Given the description of an element on the screen output the (x, y) to click on. 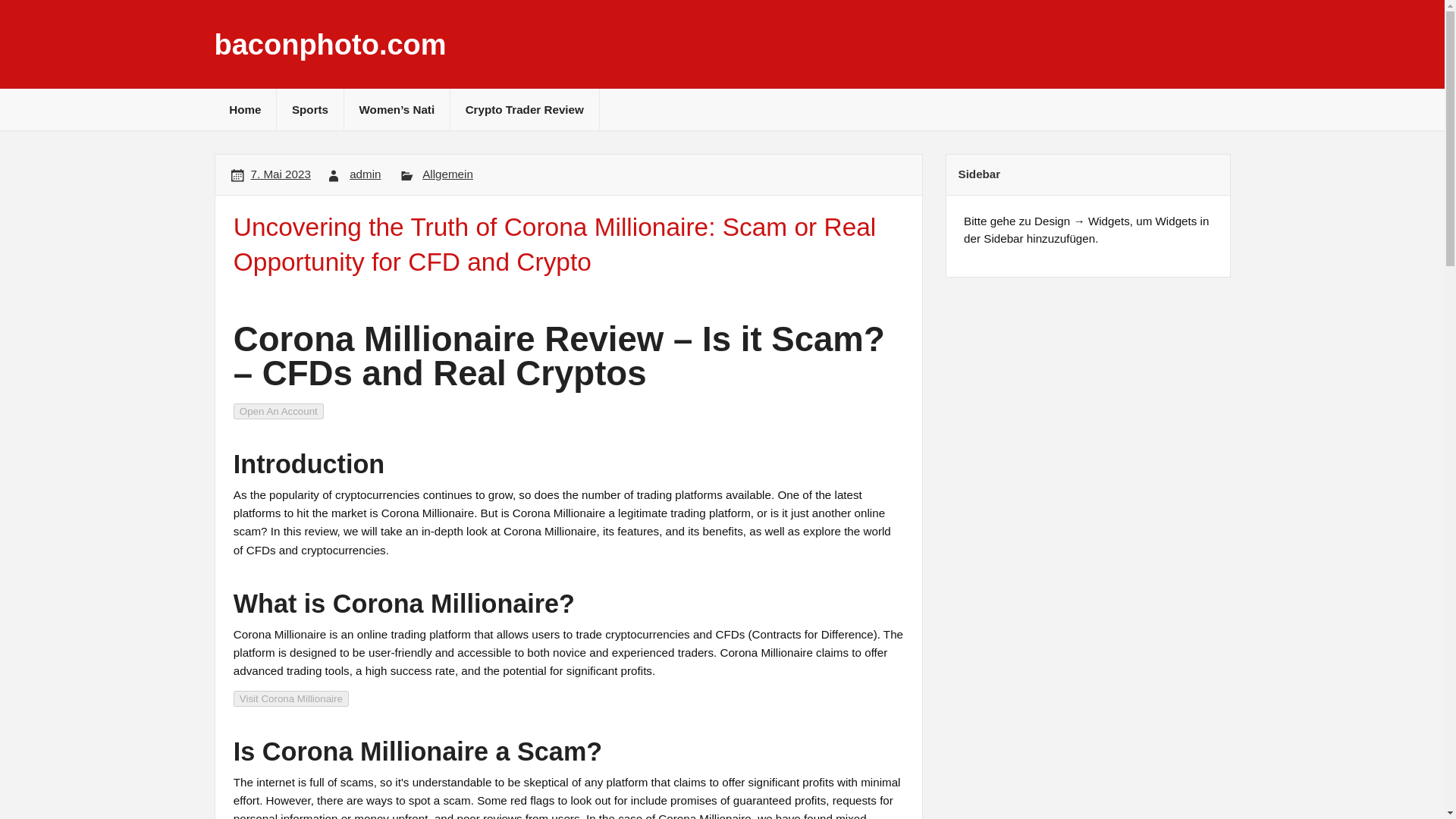
baconphoto.com (329, 44)
Home (245, 109)
Visit Corona Millionaire (290, 698)
Allgemein (447, 173)
7. Mai 2023 (280, 173)
Sports (309, 109)
admin (364, 173)
Crypto Trader Review (523, 109)
22:18 (280, 173)
Visit Corona Millionaire (290, 697)
